Given the description of an element on the screen output the (x, y) to click on. 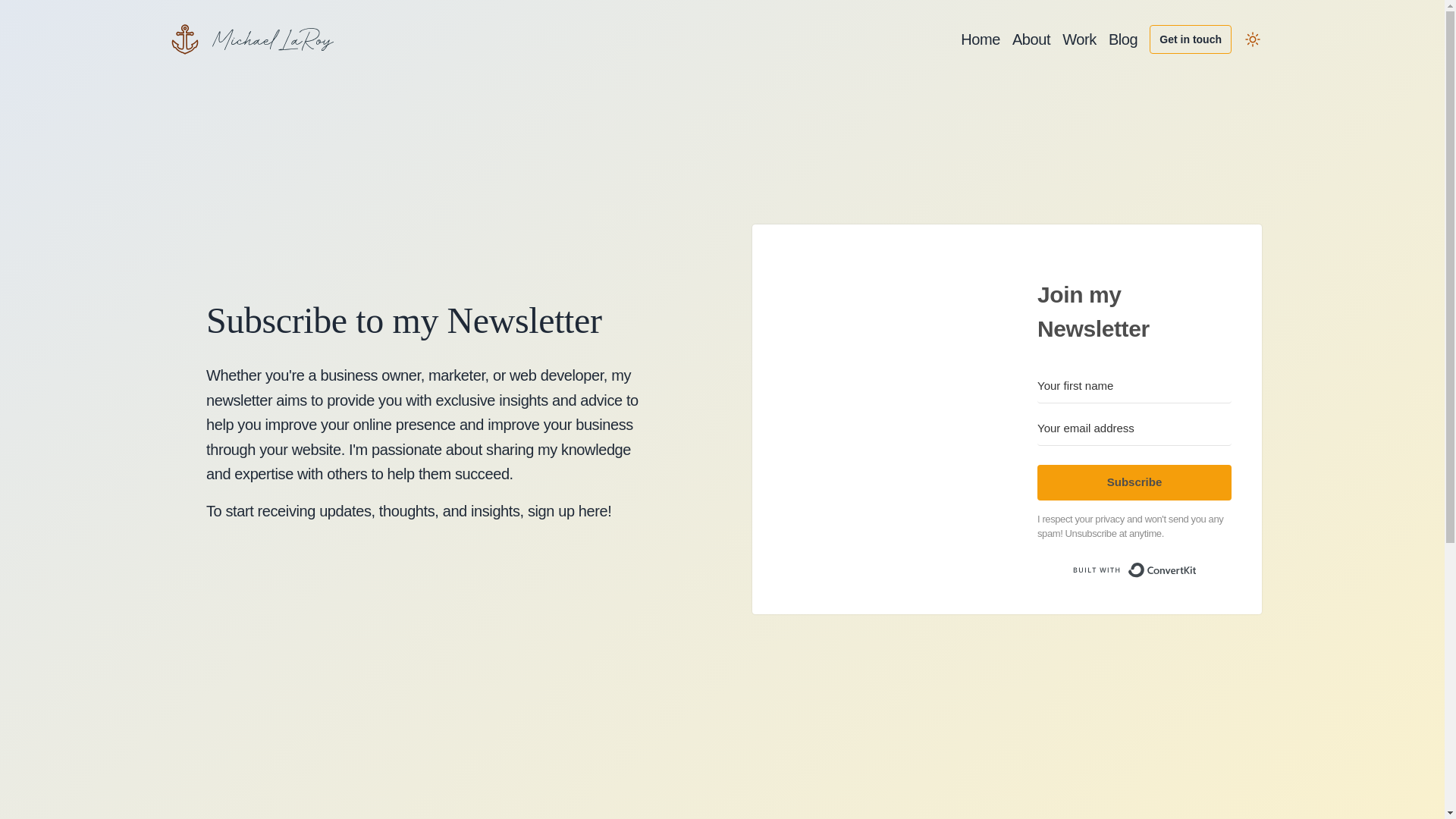
Switch to dark mode (1252, 39)
Switch to dark mode (1252, 39)
Home (980, 39)
Blog (1122, 39)
About (1030, 39)
Get in touch (1190, 39)
Michael LaRoy - Home (251, 39)
Built with ConvertKit (1133, 569)
Work (1079, 39)
Subscribe (1133, 482)
